Given the description of an element on the screen output the (x, y) to click on. 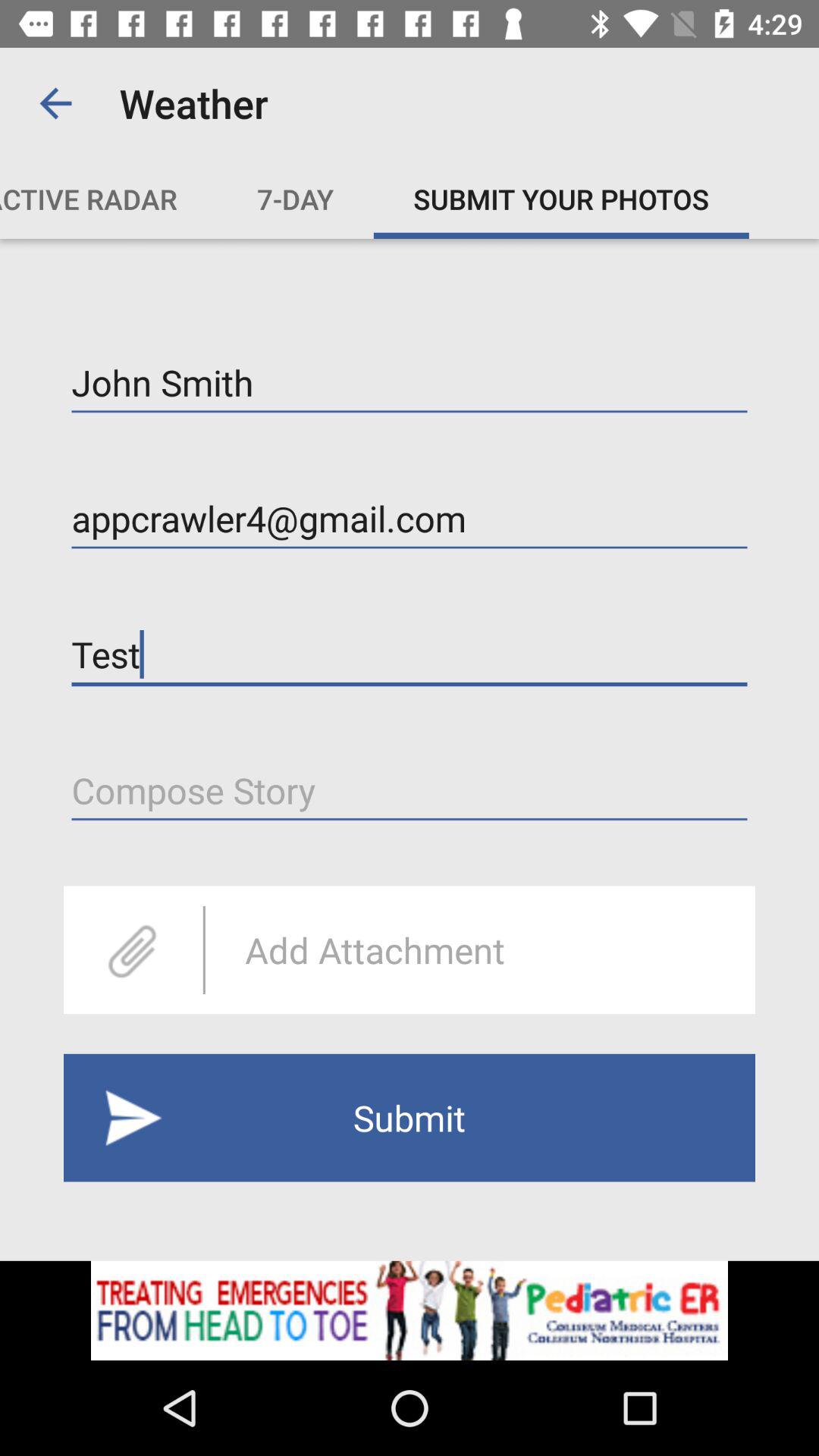
select compose story (409, 791)
